Given the description of an element on the screen output the (x, y) to click on. 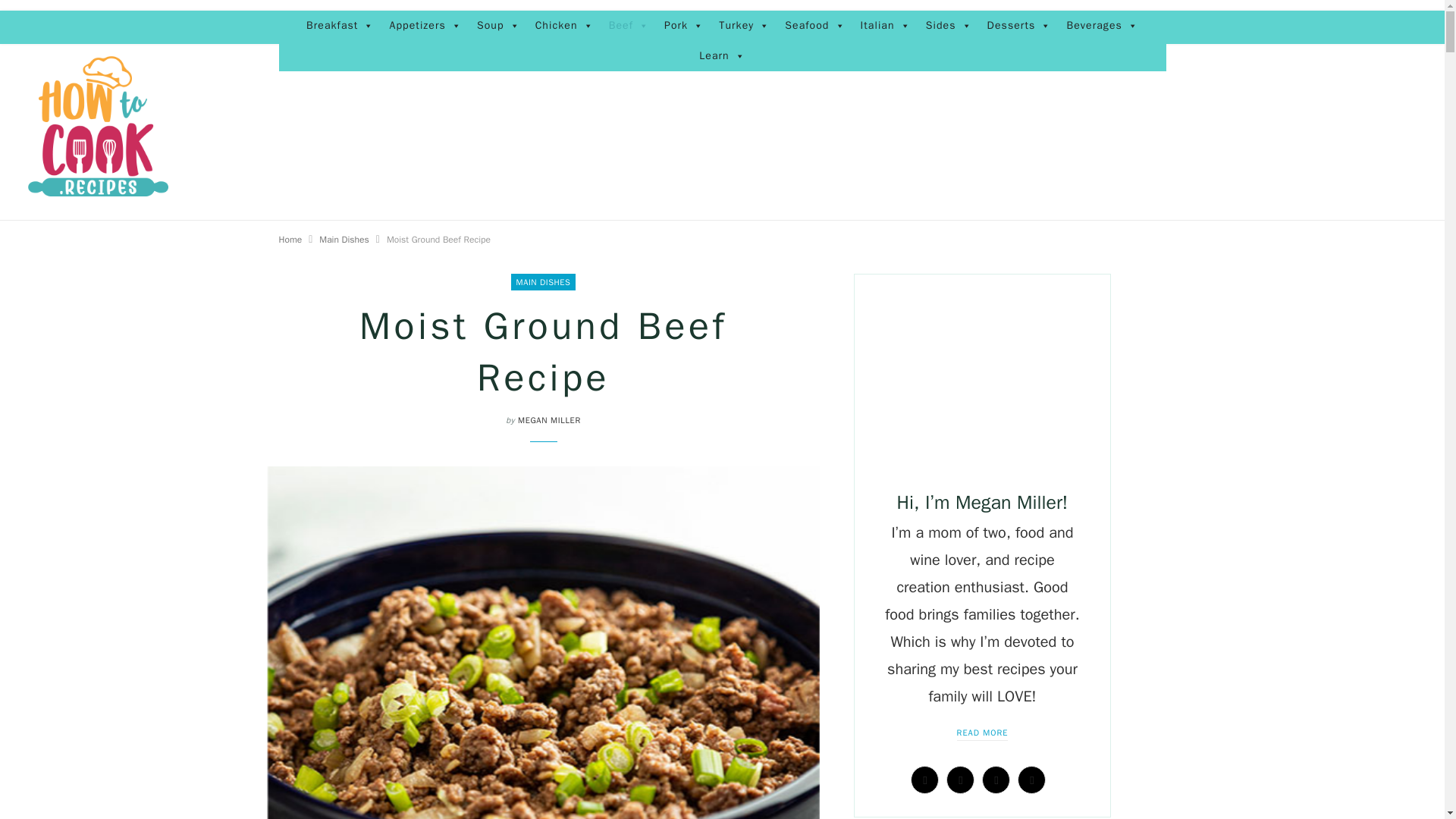
Appetizers (424, 25)
Breakfast (339, 25)
Posts by Megan Miller (549, 419)
How To Cook.Recipes (98, 126)
